Given the description of an element on the screen output the (x, y) to click on. 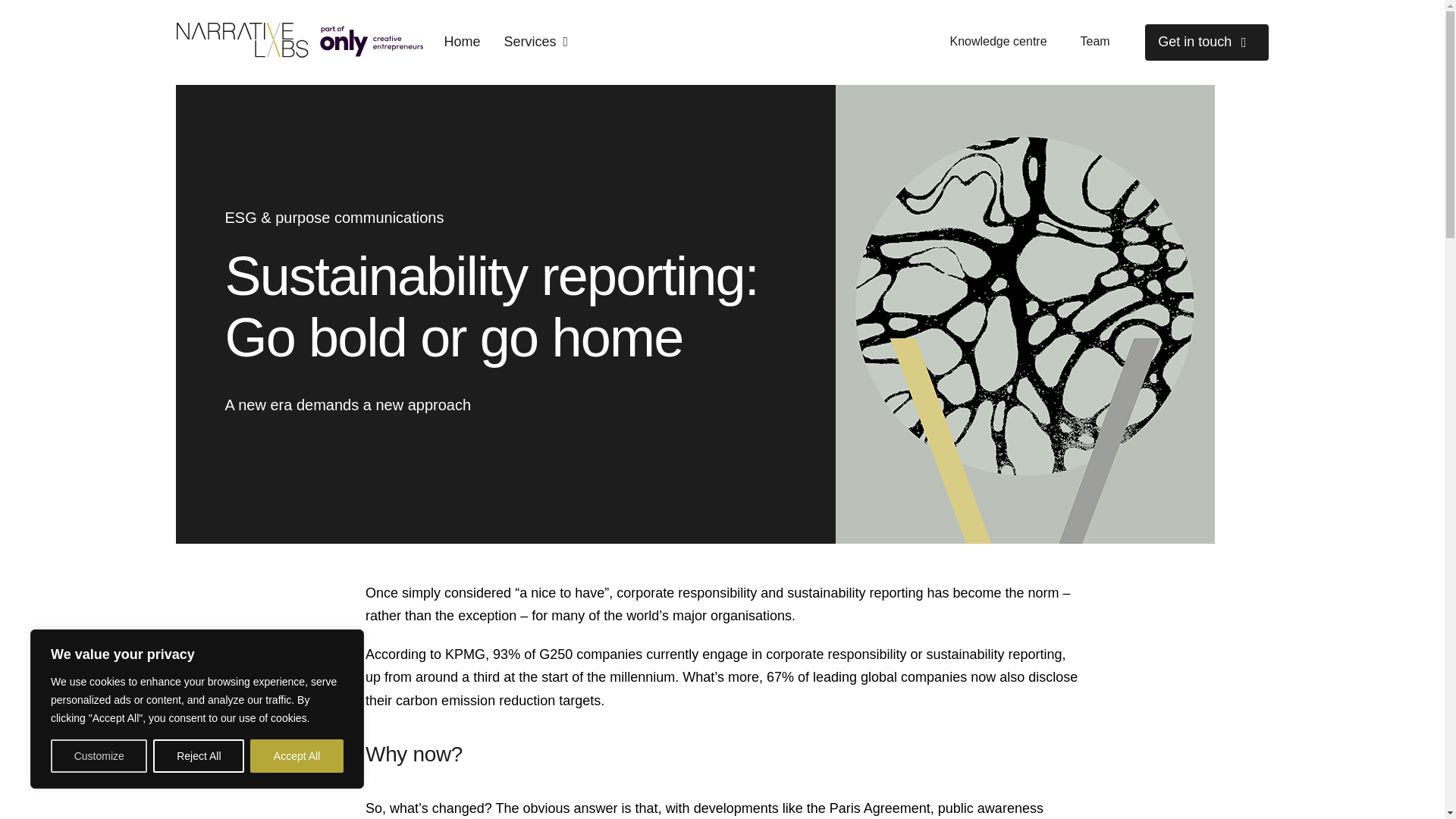
Accept All (296, 756)
Knowledge centre (997, 41)
Customize (98, 756)
Reject All (198, 756)
Services (536, 41)
Get in touch (1206, 42)
Home (461, 41)
Contact (1206, 42)
Team (1095, 41)
